Given the description of an element on the screen output the (x, y) to click on. 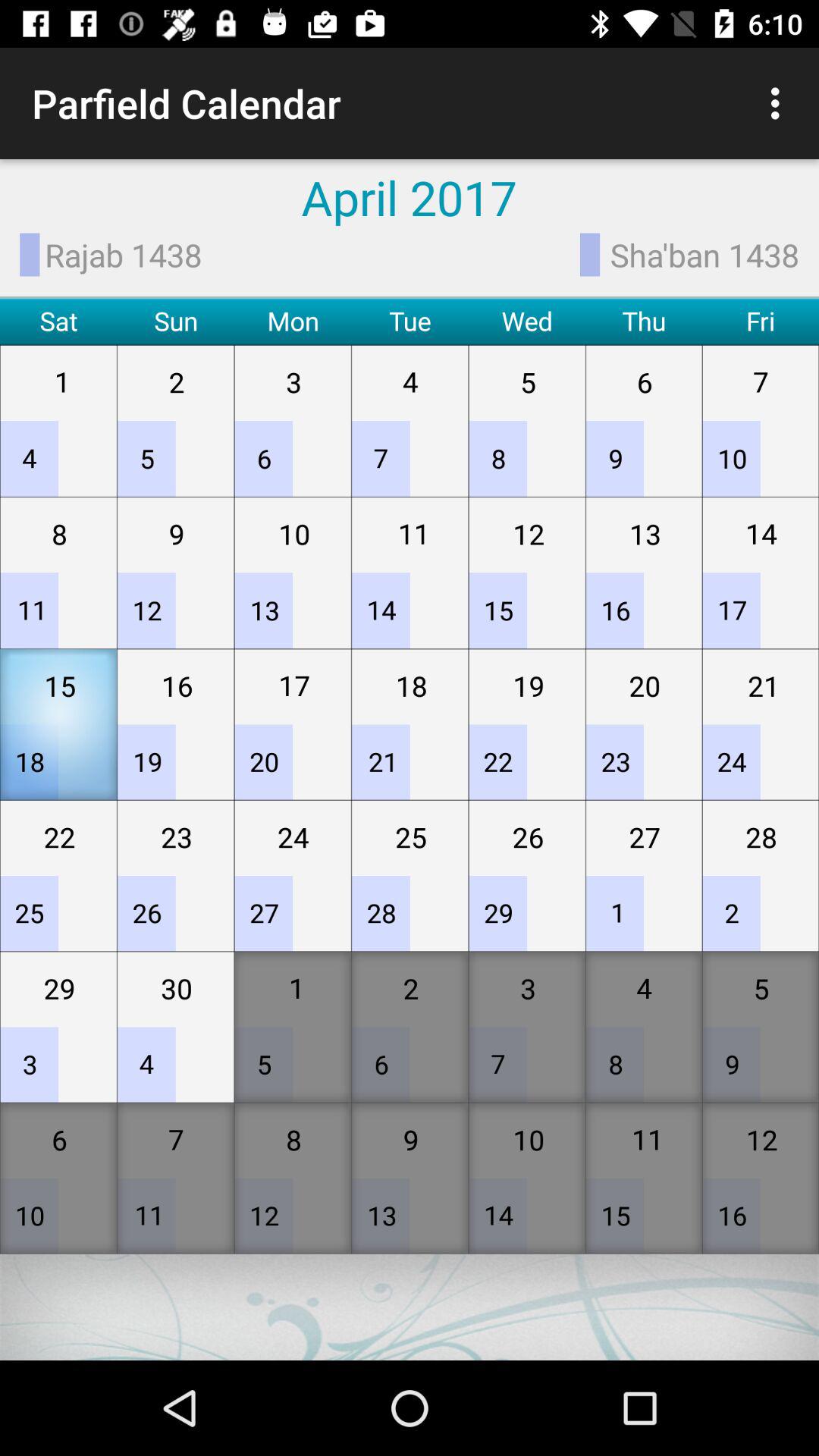
turn off icon above sha'ban 1438 (779, 103)
